Given the description of an element on the screen output the (x, y) to click on. 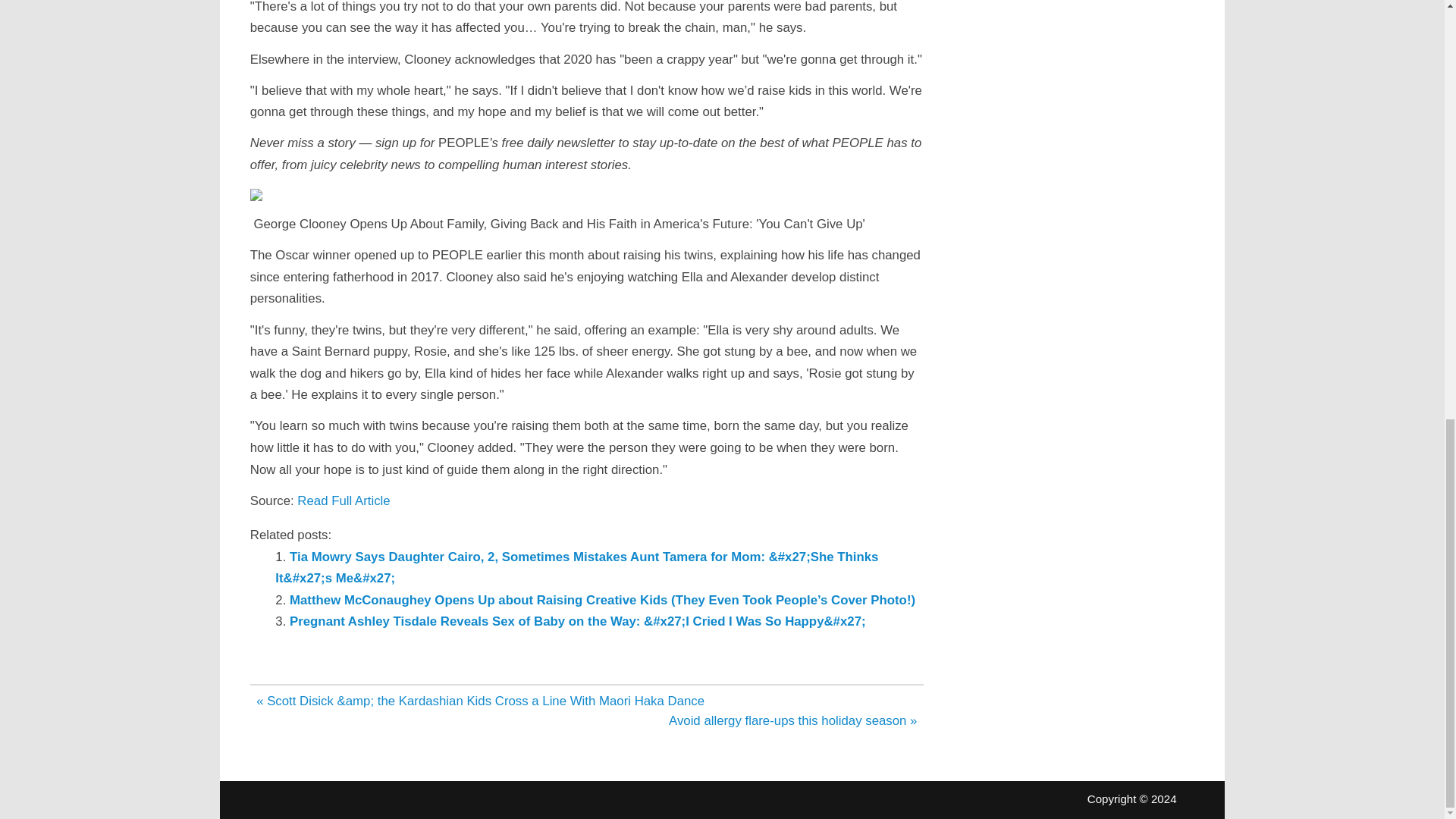
Read Full Article (343, 500)
